Given the description of an element on the screen output the (x, y) to click on. 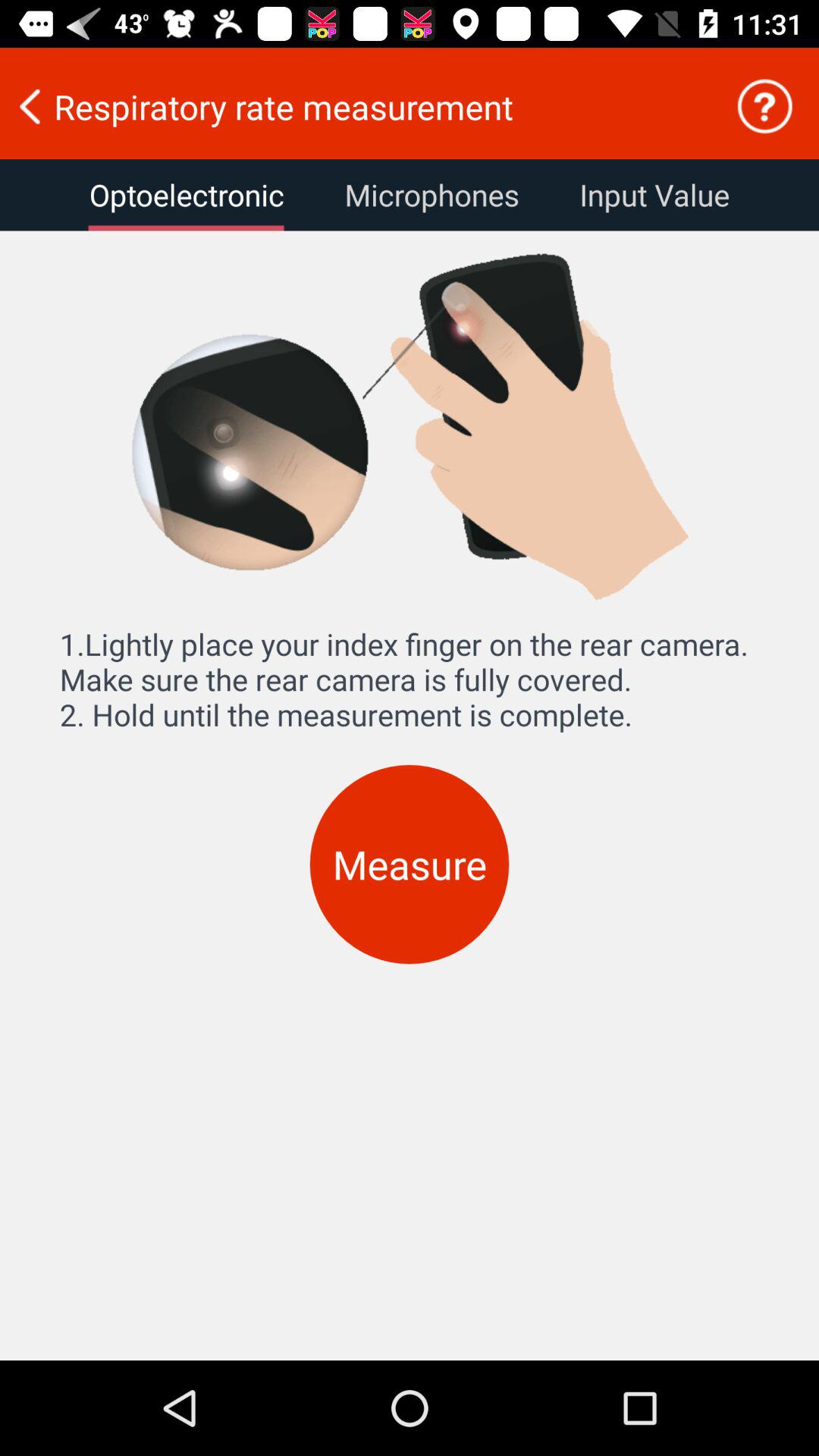
press input value item (654, 194)
